Given the description of an element on the screen output the (x, y) to click on. 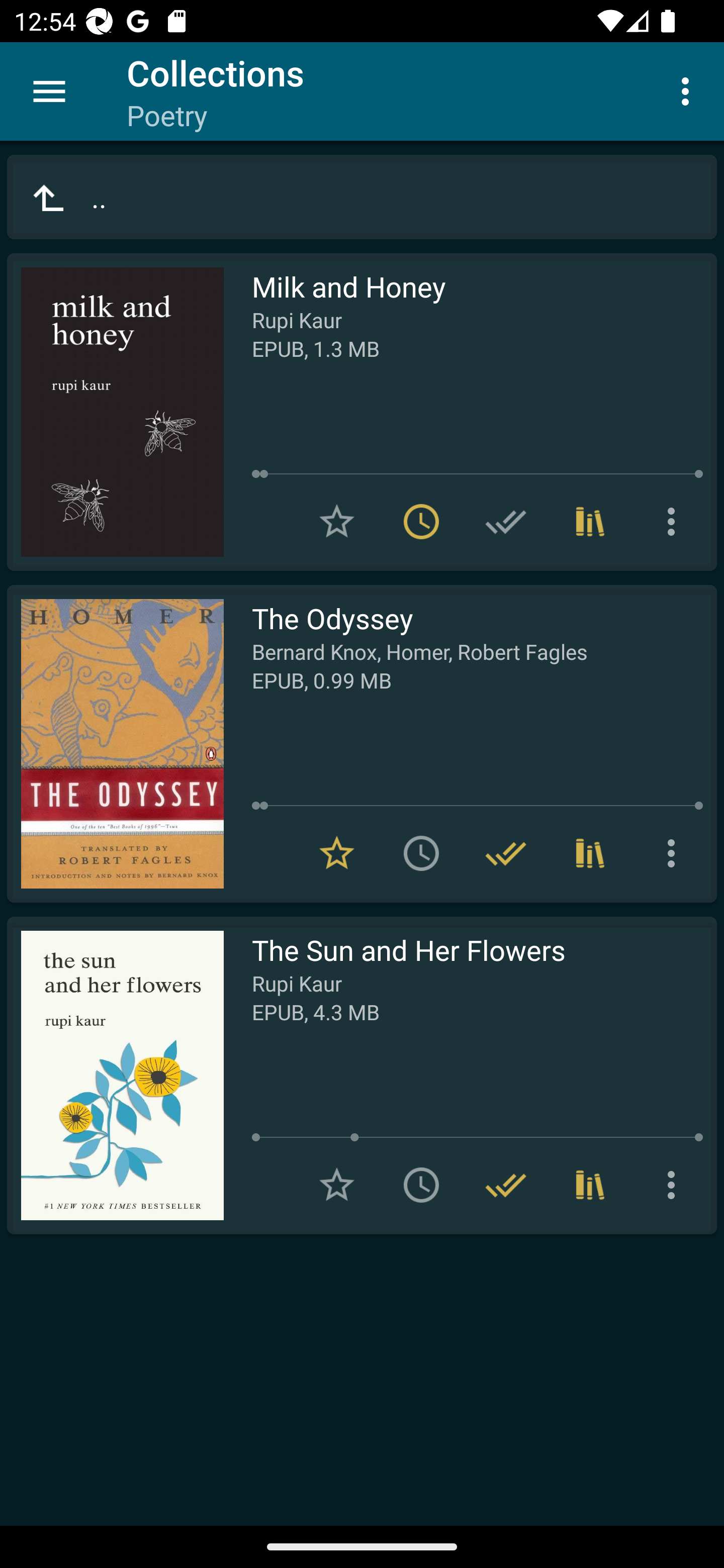
Menu (49, 91)
More options (688, 90)
.. (361, 197)
Read Milk and Honey (115, 412)
Add to Favorites (336, 521)
Remove from To read (421, 521)
Add to Have read (505, 521)
Collections (3) (590, 521)
More options (674, 521)
Read The Odyssey (115, 743)
Remove from Favorites (336, 852)
Add to To read (421, 852)
Remove from Have read (505, 852)
Collections (2) (590, 852)
More options (674, 852)
Read The Sun and Her Flowers (115, 1075)
Add to Favorites (336, 1185)
Add to To read (421, 1185)
Remove from Have read (505, 1185)
Collections (1) (590, 1185)
More options (674, 1185)
